Given the description of an element on the screen output the (x, y) to click on. 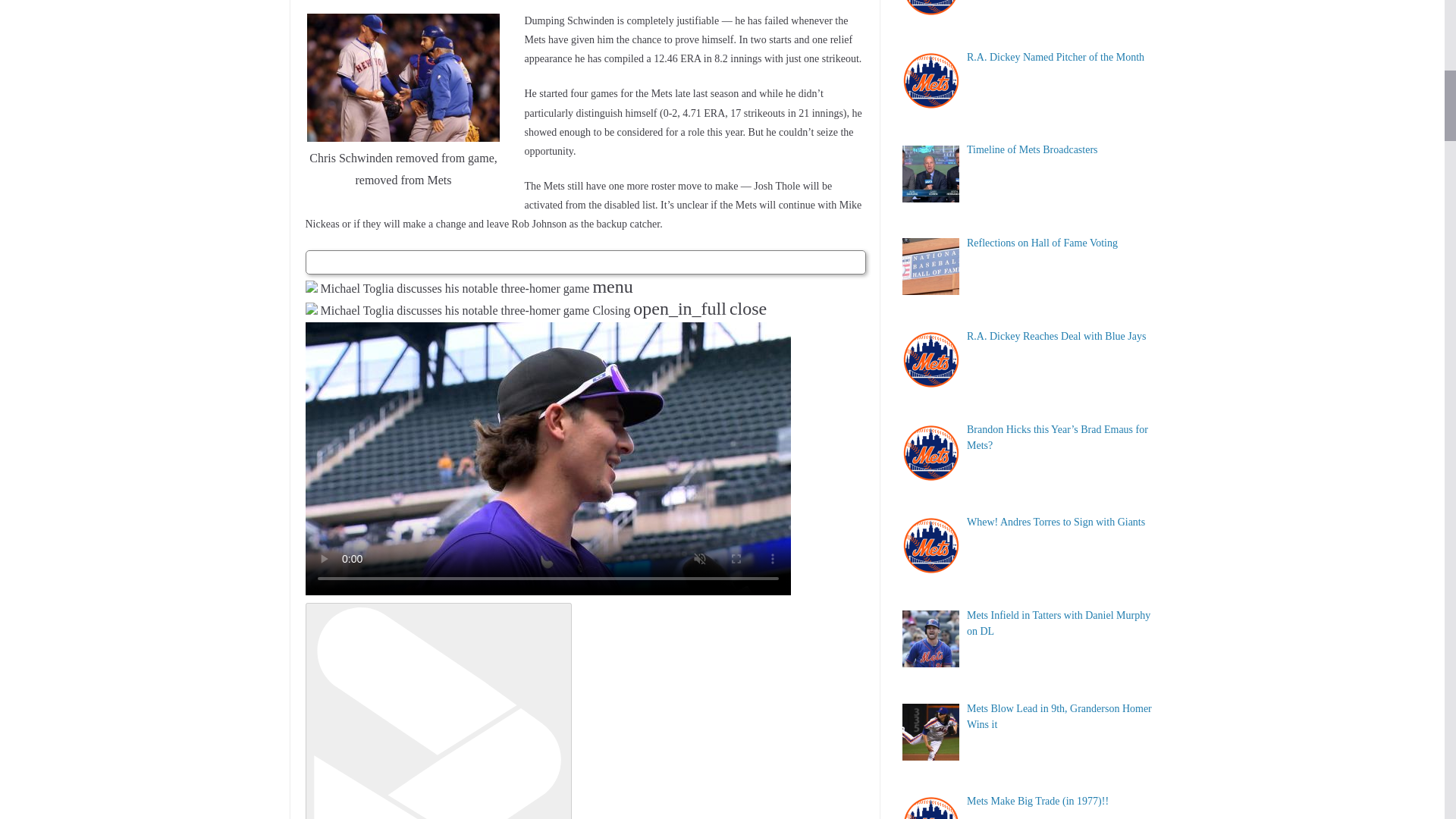
chris schwinden (403, 77)
